Given the description of an element on the screen output the (x, y) to click on. 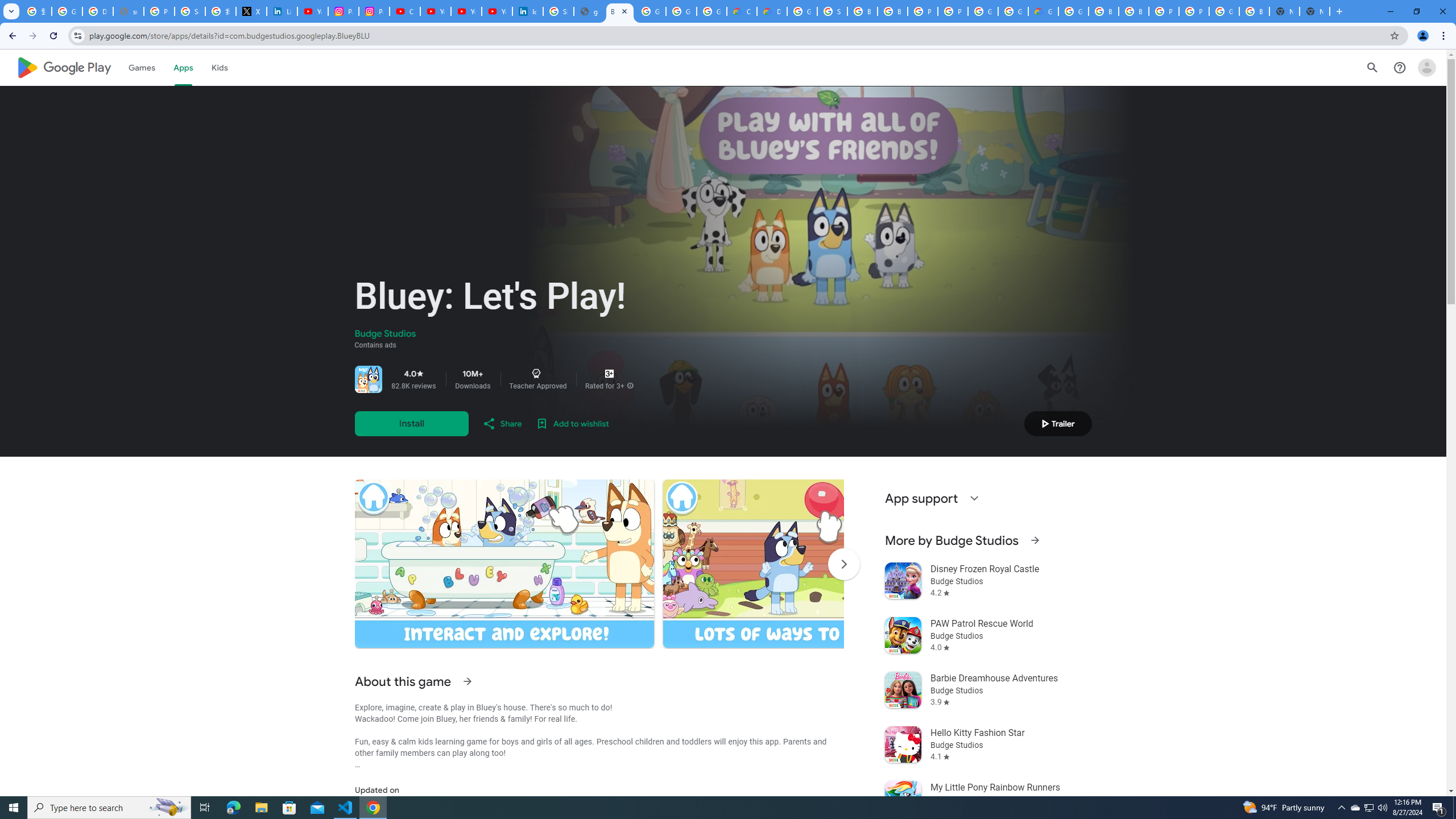
Google Cloud Platform (982, 11)
Customer Care | Google Cloud (741, 11)
Sign in - Google Accounts (832, 11)
Browse Chrome as a guest - Computer - Google Chrome Help (892, 11)
Google Cloud Platform (801, 11)
New Tab (1314, 11)
Play trailer (1058, 423)
Install (410, 423)
Browse Chrome as a guest - Computer - Google Chrome Help (1103, 11)
Open account menu (1426, 67)
